Given the description of an element on the screen output the (x, y) to click on. 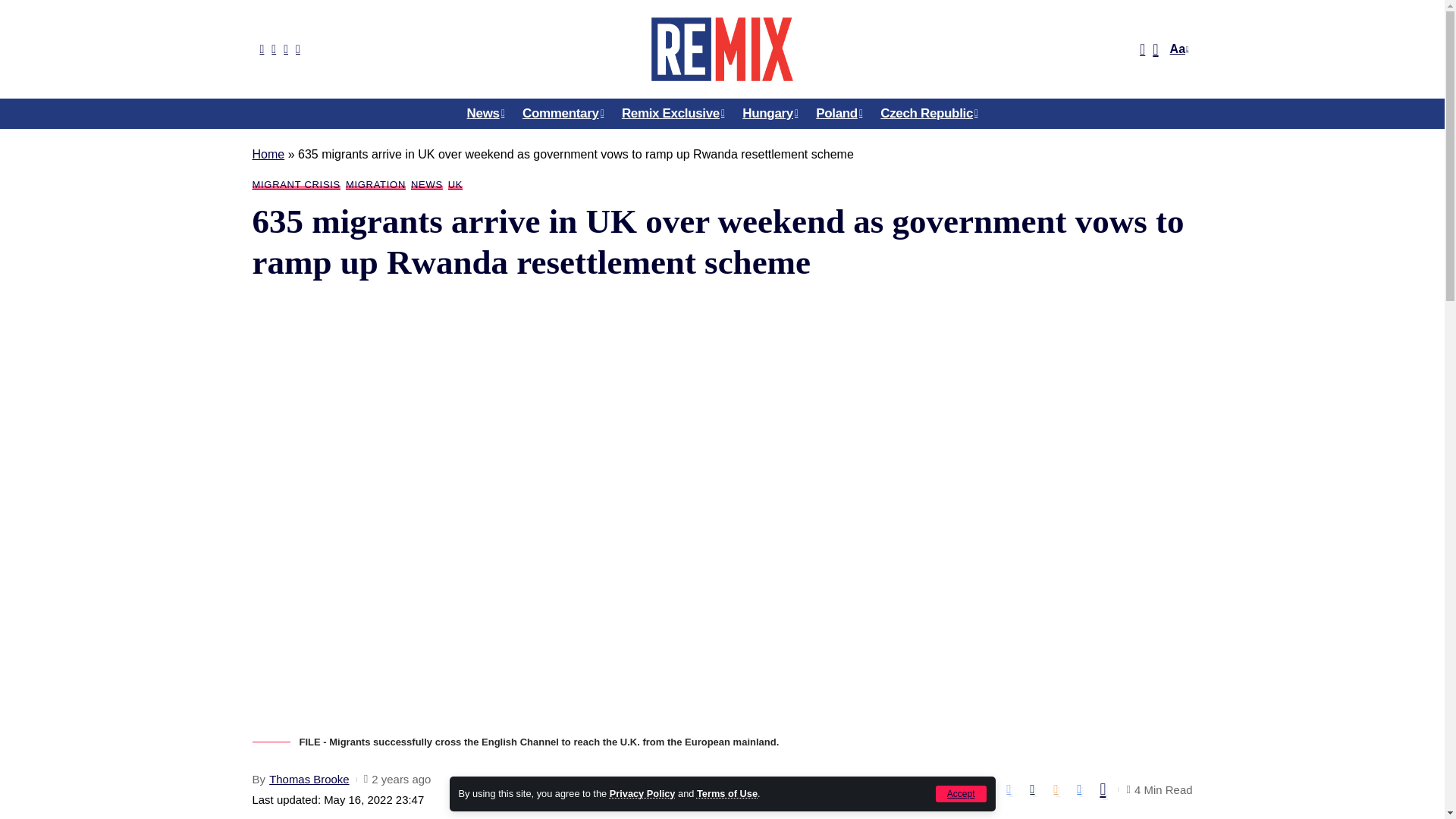
Aa (1177, 48)
Accept (961, 793)
Remix News (721, 48)
News (485, 113)
Terms of Use (727, 793)
Commentary (562, 113)
Privacy Policy (642, 793)
Remix Exclusive (672, 113)
